Given the description of an element on the screen output the (x, y) to click on. 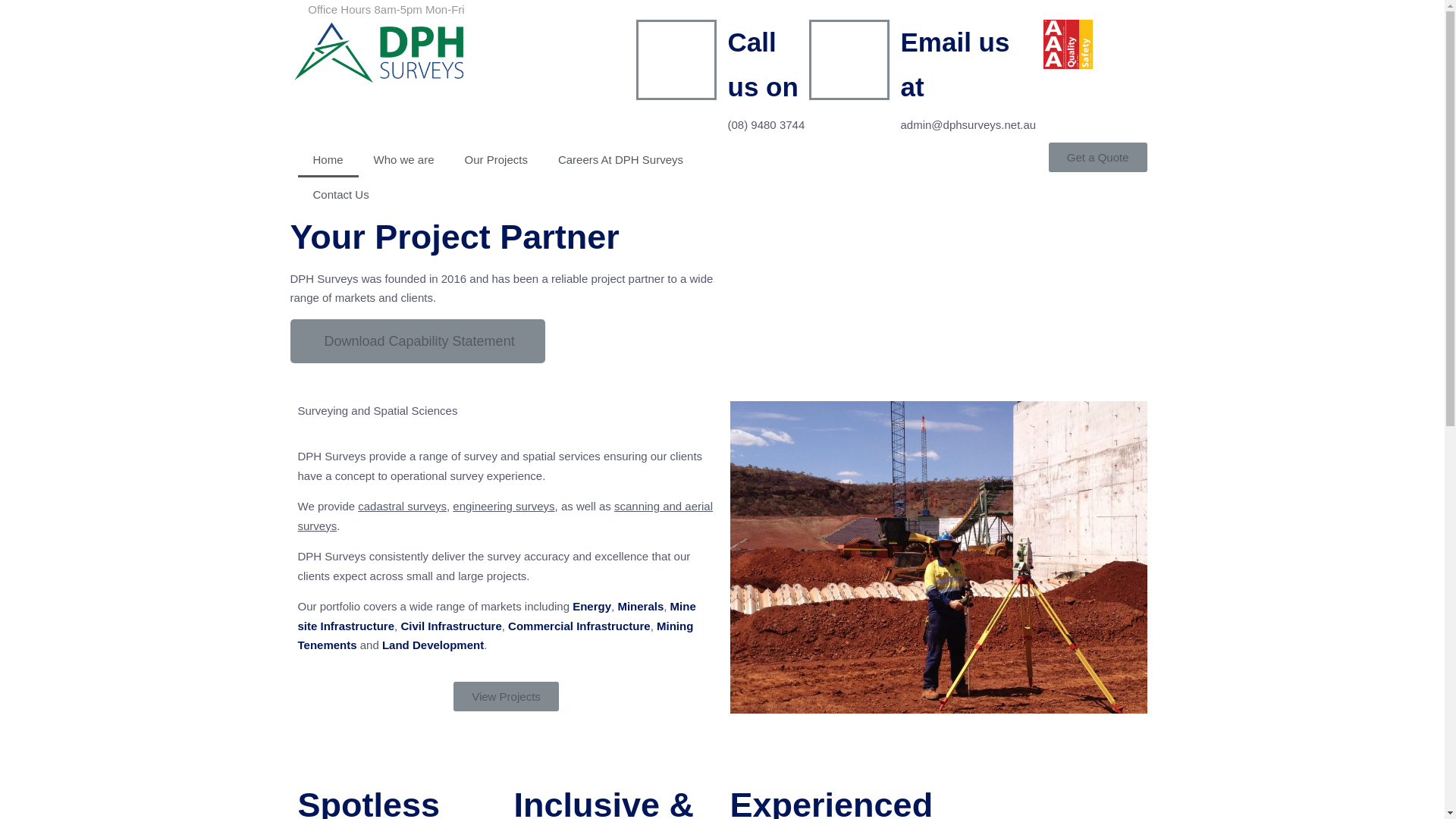
Get a Quote Element type: text (1097, 157)
Download Capability Statement Element type: text (416, 340)
View Projects Element type: text (505, 695)
Who we are Element type: text (403, 159)
Our Projects Element type: text (495, 159)
Home Element type: text (327, 159)
AAA Email Footer_02 Element type: hover (1067, 44)
Contact Us Element type: text (340, 194)
Careers At DPH Surveys Element type: text (620, 159)
